Given the description of an element on the screen output the (x, y) to click on. 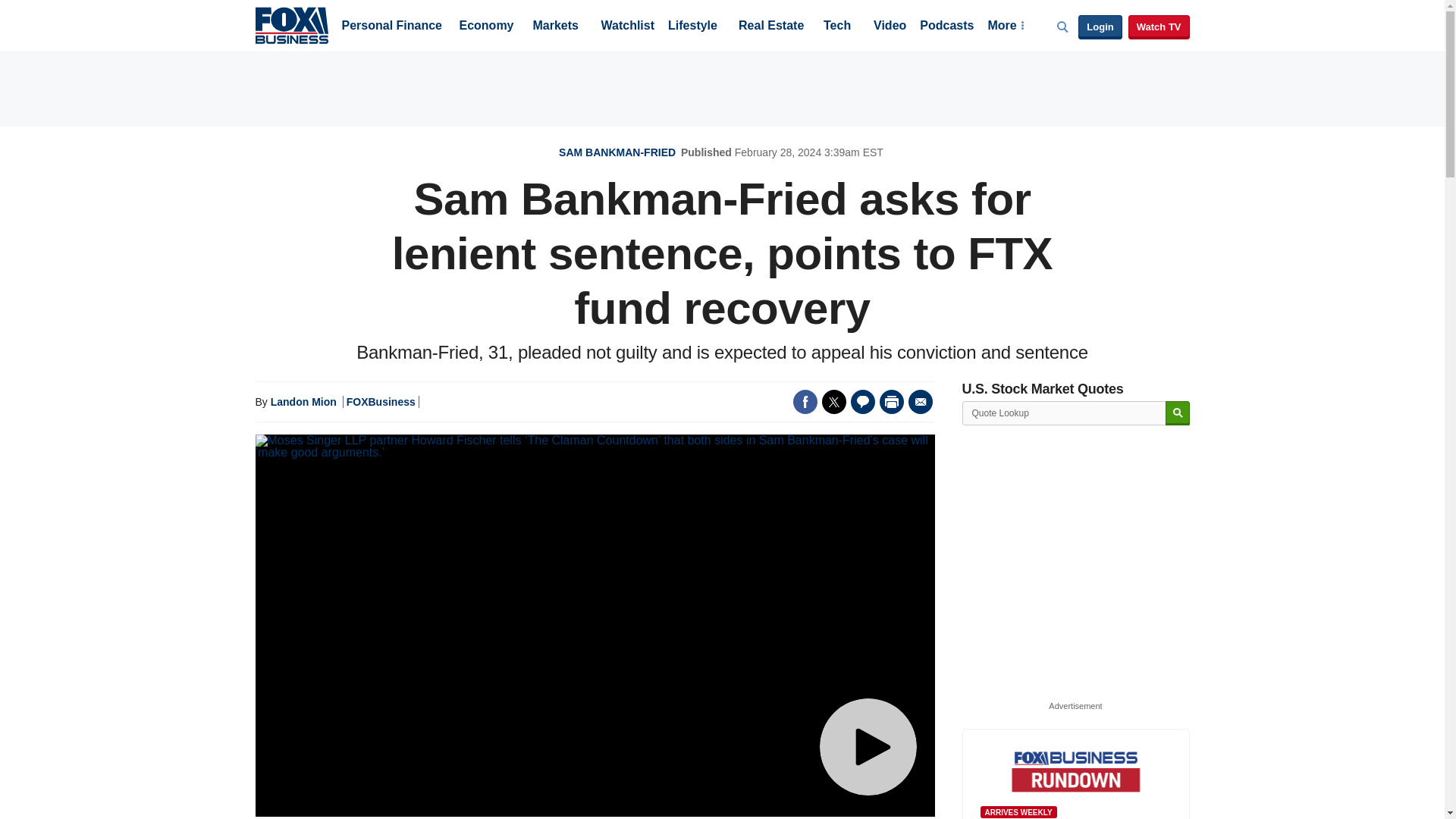
Fox Business (290, 24)
Podcasts (947, 27)
Economy (486, 27)
Lifestyle (692, 27)
Tech (837, 27)
Watch TV (1158, 27)
Watchlist (626, 27)
Markets (555, 27)
Real Estate (770, 27)
More (1005, 27)
